Given the description of an element on the screen output the (x, y) to click on. 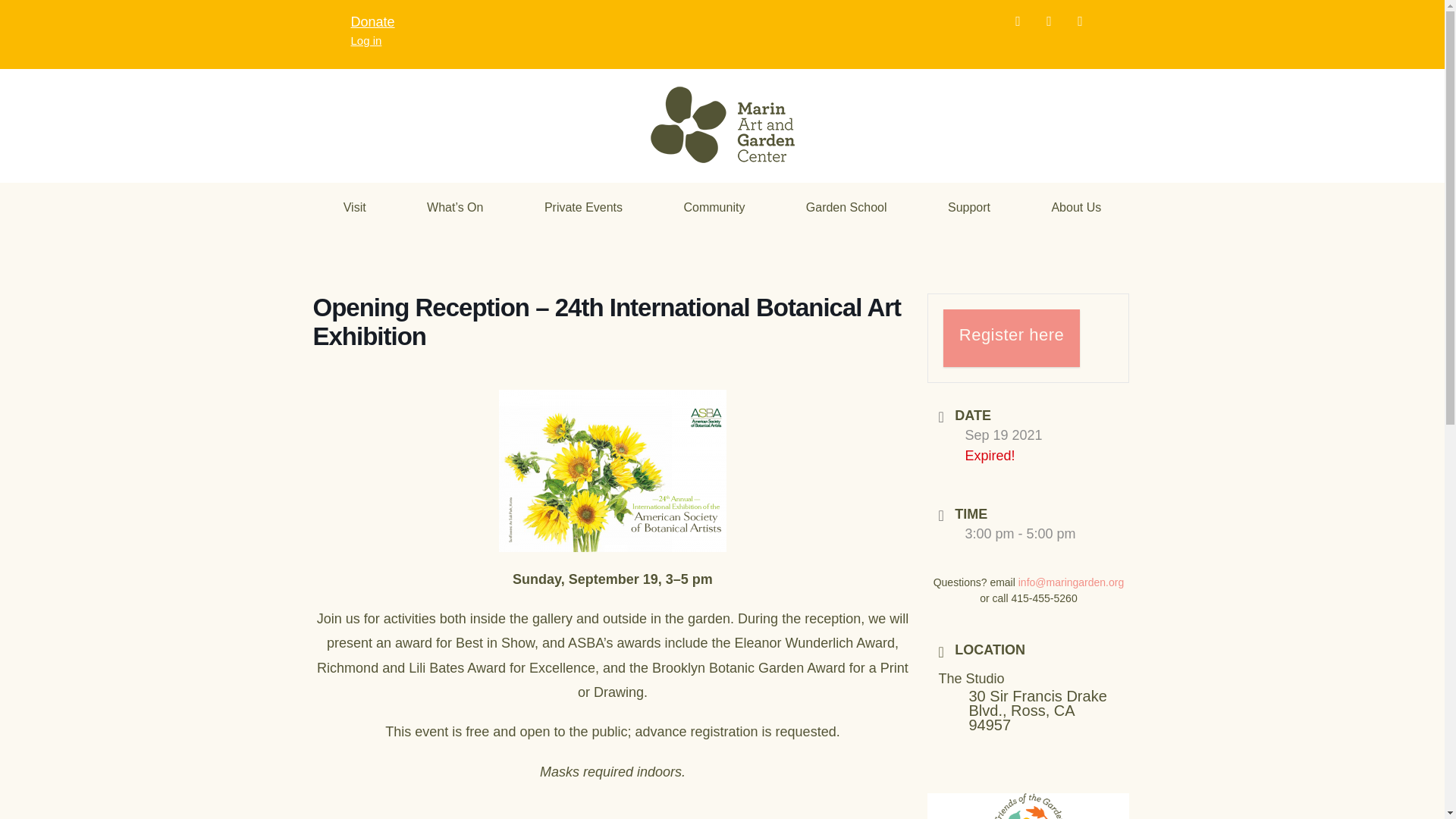
Private Events (583, 207)
Support (968, 207)
Community (713, 207)
Visit (354, 207)
Donate (372, 21)
About Us (1075, 207)
Garden School (846, 207)
Log in (365, 40)
